Given the description of an element on the screen output the (x, y) to click on. 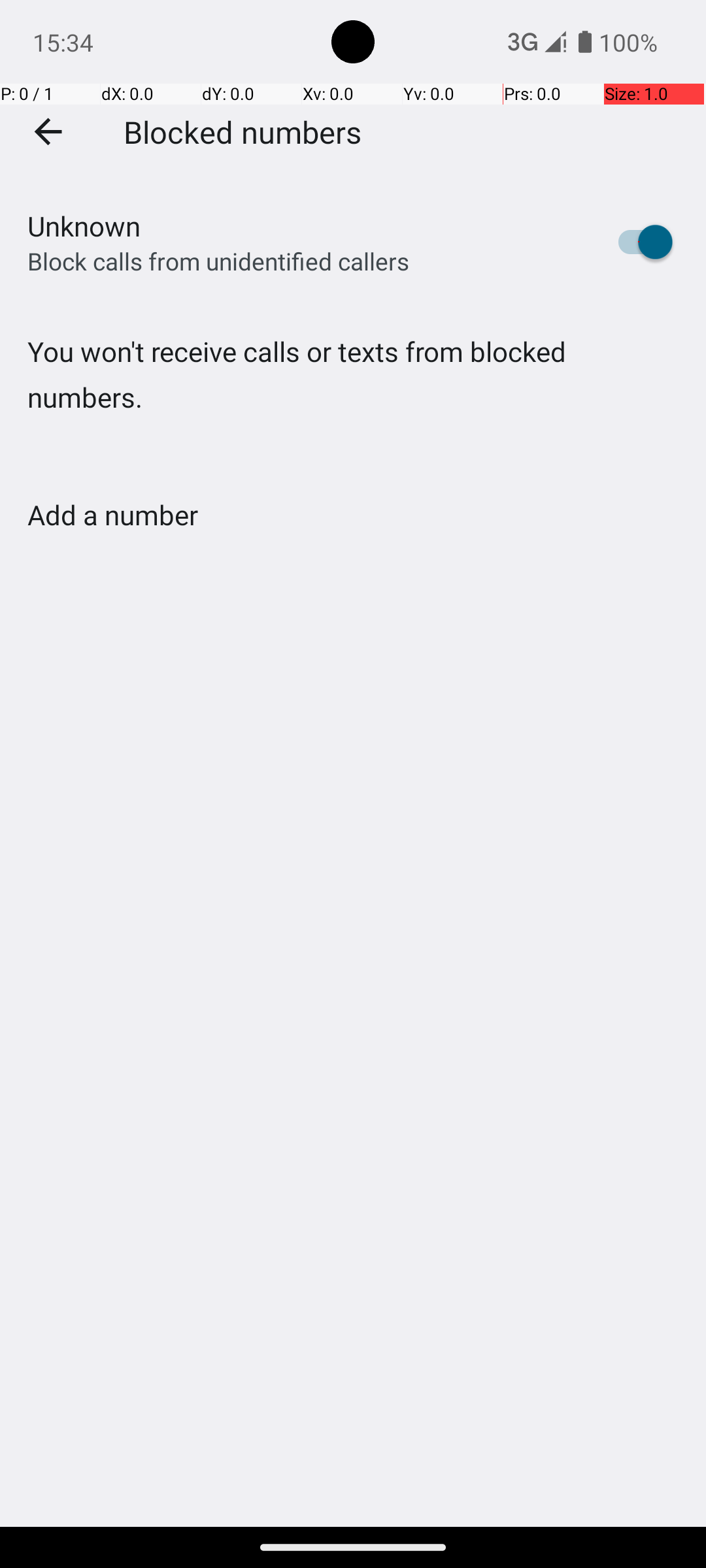
Blocked numbers Element type: android.widget.TextView (242, 131)
You won't receive calls or texts from blocked numbers. Element type: android.widget.TextView (352, 401)
Add a number Element type: android.widget.TextView (112, 514)
Unknown Element type: android.widget.TextView (83, 225)
Block calls from unidentified callers Element type: android.widget.TextView (218, 260)
